Given the description of an element on the screen output the (x, y) to click on. 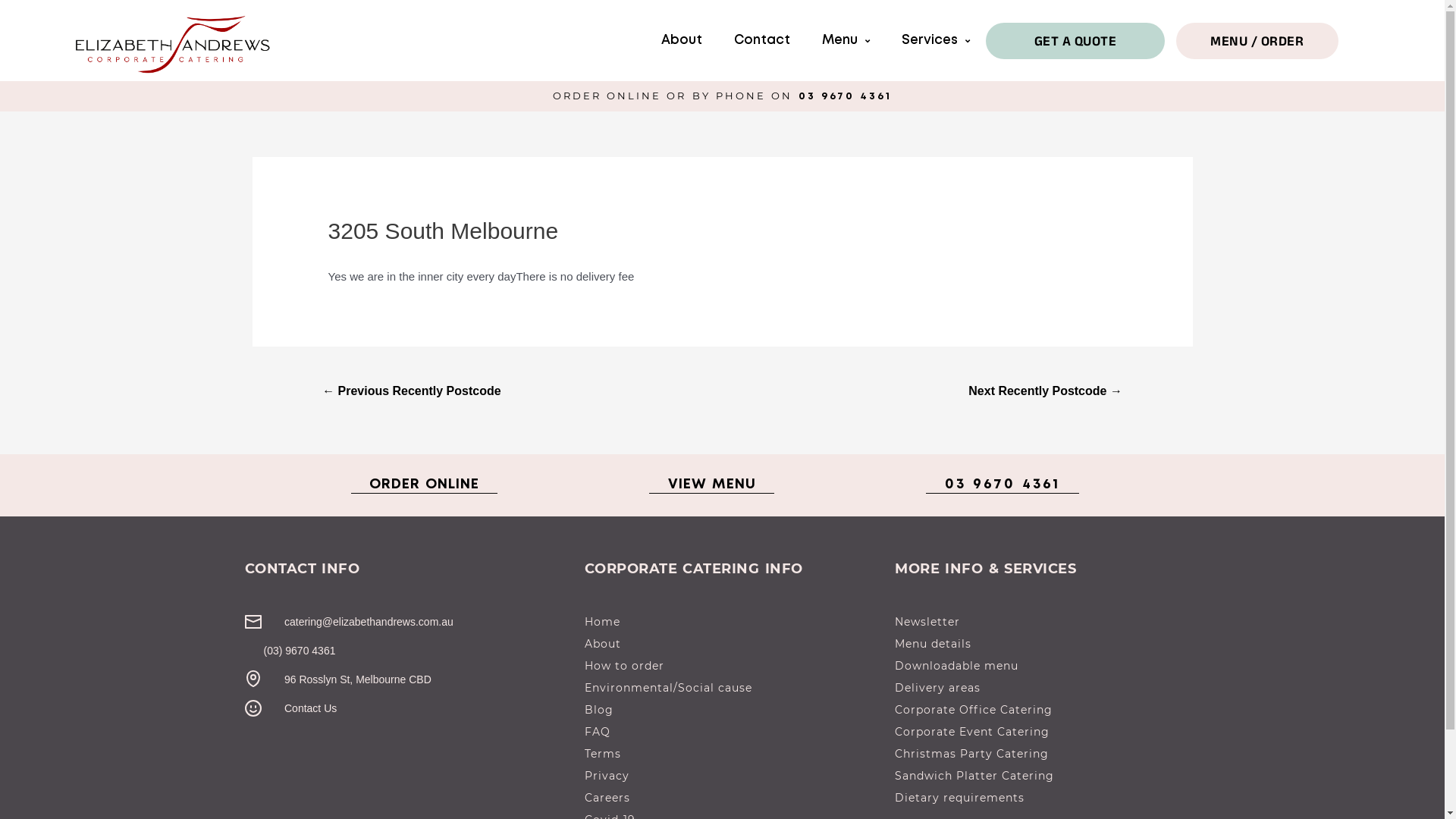
Newsletter Element type: text (1045, 621)
Corporate Event Catering Element type: text (1045, 731)
Careers Element type: text (731, 797)
Terms Element type: text (731, 753)
Sandwich Platter Catering Element type: text (1045, 775)
Menu Element type: text (845, 40)
Environmental/Social cause Element type: text (731, 687)
03 9670 4361 Element type: text (1001, 485)
How to order Element type: text (731, 665)
(03) 9670 4361 Element type: text (406, 650)
ORDER ONLINE Element type: text (423, 485)
Corporate Office Catering Element type: text (1045, 709)
Christmas Party Catering Element type: text (1045, 753)
catering@elizabethandrews.com.au Element type: text (406, 621)
03 9670 4361 Element type: text (845, 96)
MENU / ORDER Element type: text (1256, 40)
VIEW MENU Element type: text (711, 485)
Services Element type: text (935, 40)
Contact Element type: text (761, 40)
Home Element type: text (731, 621)
Downloadable menu Element type: text (1045, 665)
Delivery areas Element type: text (1045, 687)
Blog Element type: text (731, 709)
Privacy Element type: text (731, 775)
GET A QUOTE Element type: text (1075, 40)
FAQ Element type: text (731, 731)
Menu details Element type: text (1045, 643)
Contact Us Element type: text (406, 708)
Dietary requirements Element type: text (1045, 797)
About Element type: text (731, 643)
About Element type: text (681, 40)
